Given the description of an element on the screen output the (x, y) to click on. 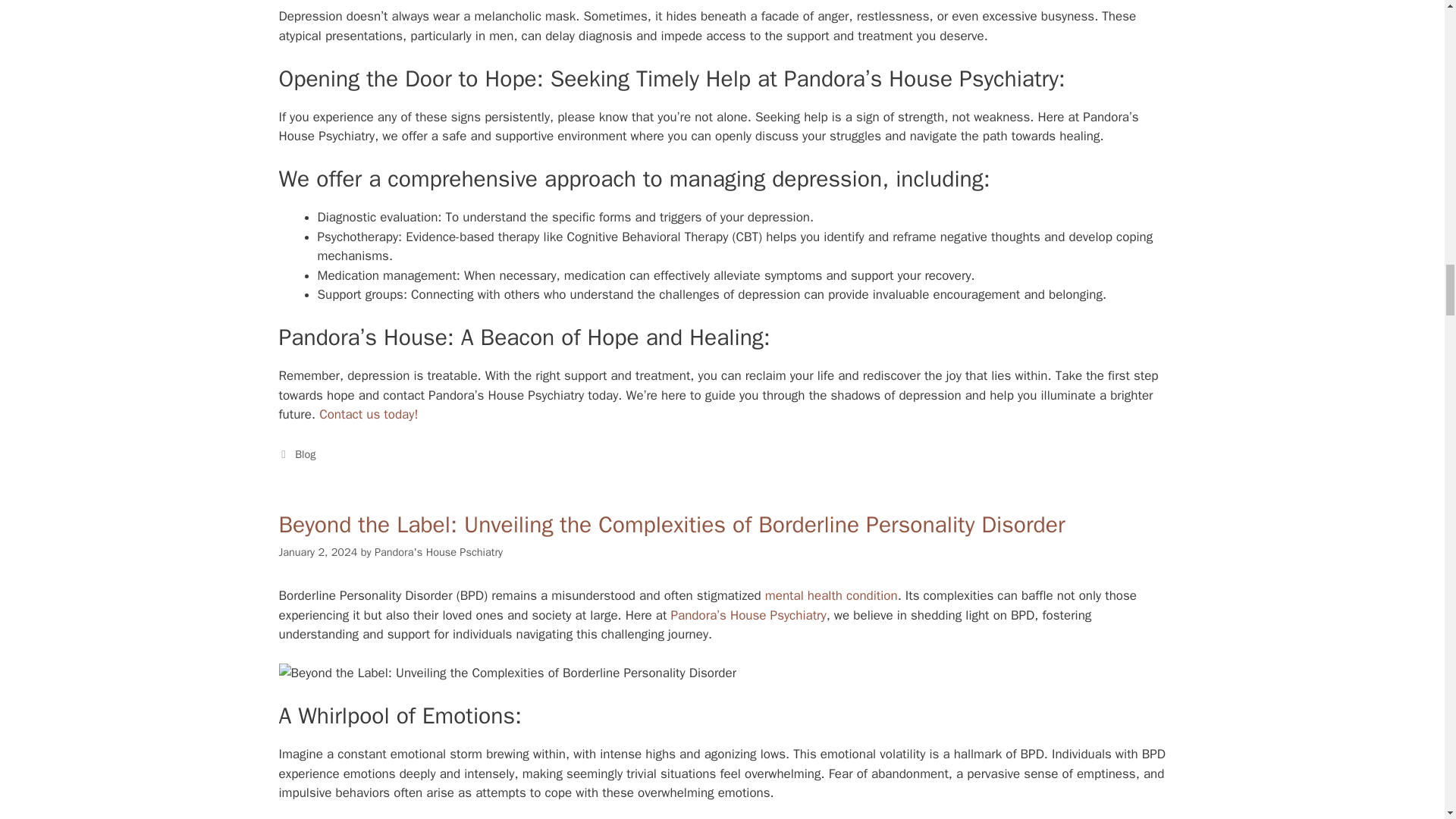
5:38 pm (318, 551)
View all posts by Pandora's House Pschiatry (438, 551)
